Given the description of an element on the screen output the (x, y) to click on. 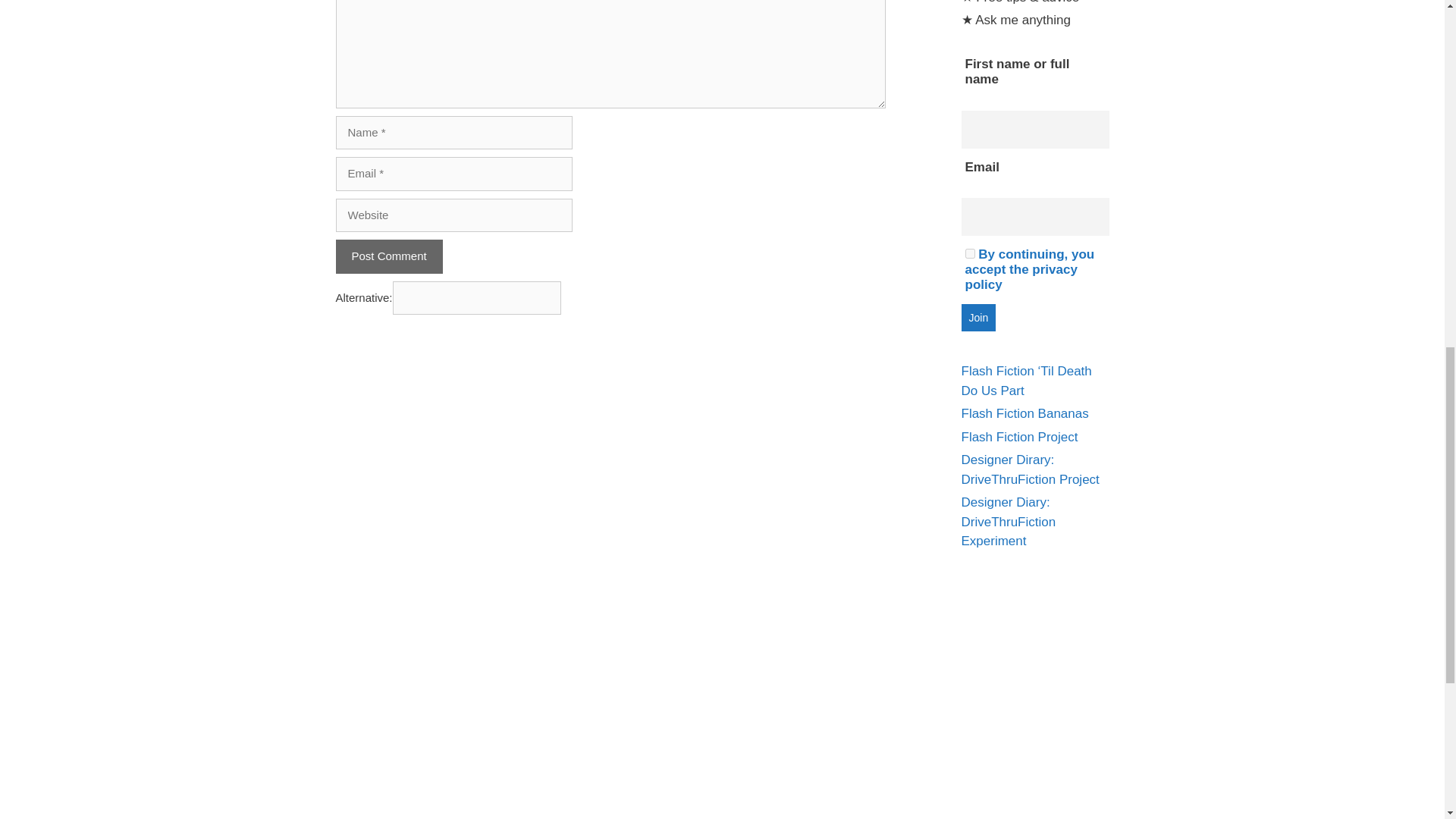
By continuing, you accept the privacy policy (1028, 269)
Designer Diary: DriveThruFiction Experiment (1008, 521)
Flash Fiction Bananas (1024, 413)
Join (977, 317)
Flash Fiction Project (1019, 436)
Post Comment (388, 256)
Join (977, 317)
Designer Dirary: DriveThruFiction Project (1029, 469)
Post Comment (388, 256)
on (968, 253)
